Given the description of an element on the screen output the (x, y) to click on. 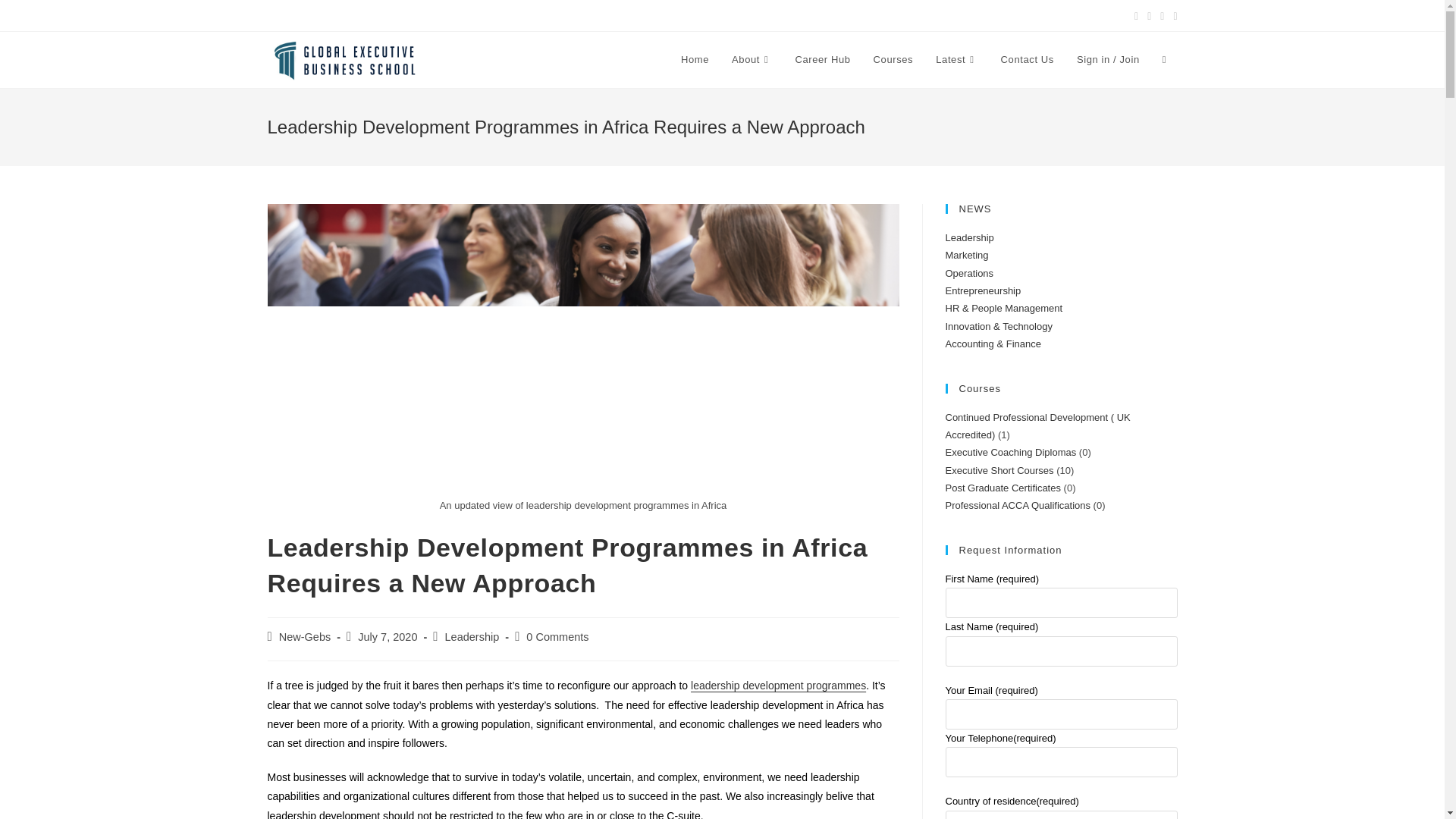
Contact Us (1027, 59)
Courses (892, 59)
Posts by New-Gebs (305, 636)
About (751, 59)
New-Gebs (305, 636)
Career Hub (822, 59)
Home (694, 59)
Latest (956, 59)
